Given the description of an element on the screen output the (x, y) to click on. 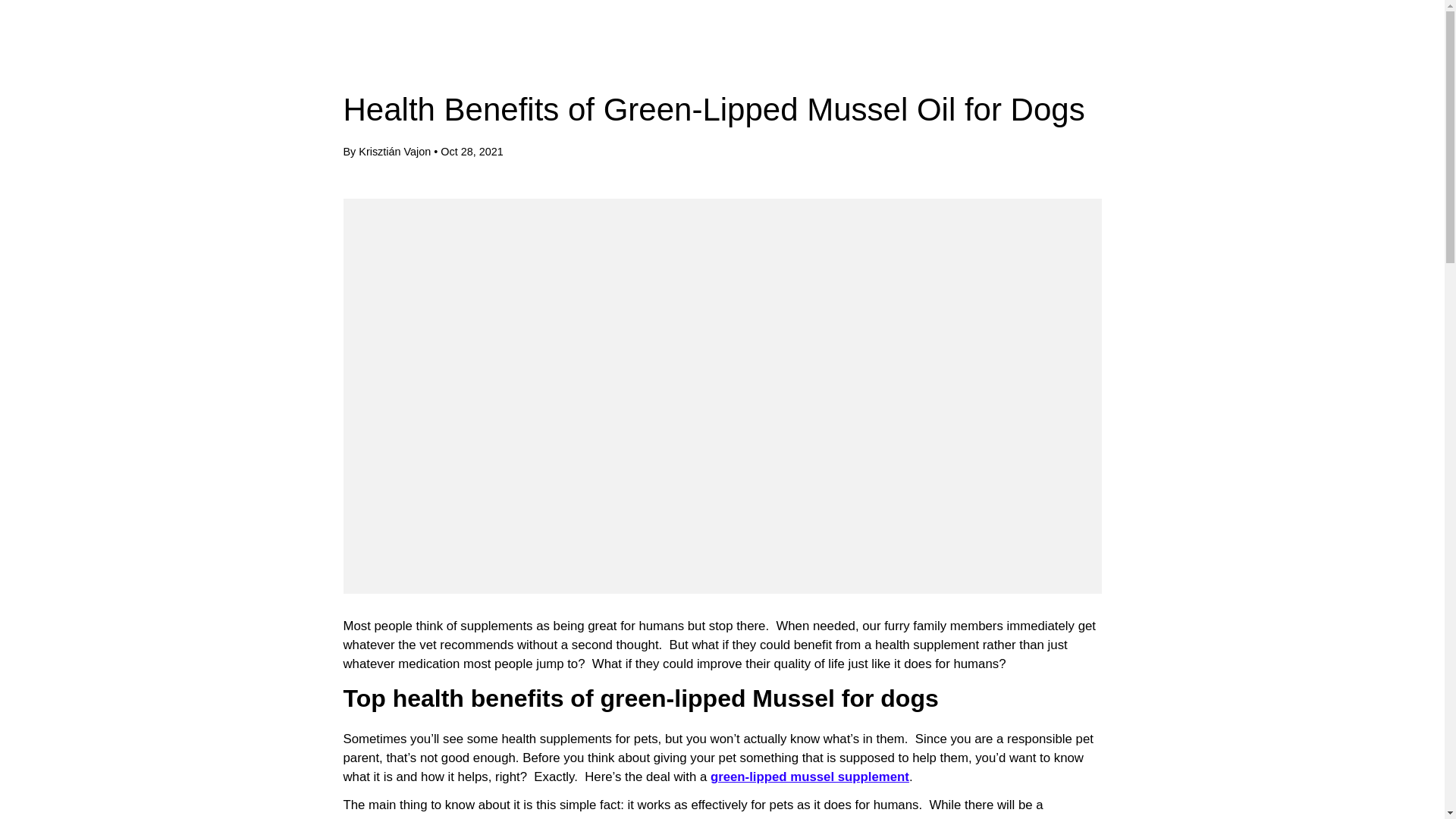
Blog (394, 45)
Restaurants (170, 45)
Nutrition (255, 45)
Gourmet (85, 45)
About (336, 45)
Shopify online store chat (38, 703)
green-lipped mussel supplement (809, 776)
Search (1343, 45)
Green-lipped mussel oil (809, 776)
